Given the description of an element on the screen output the (x, y) to click on. 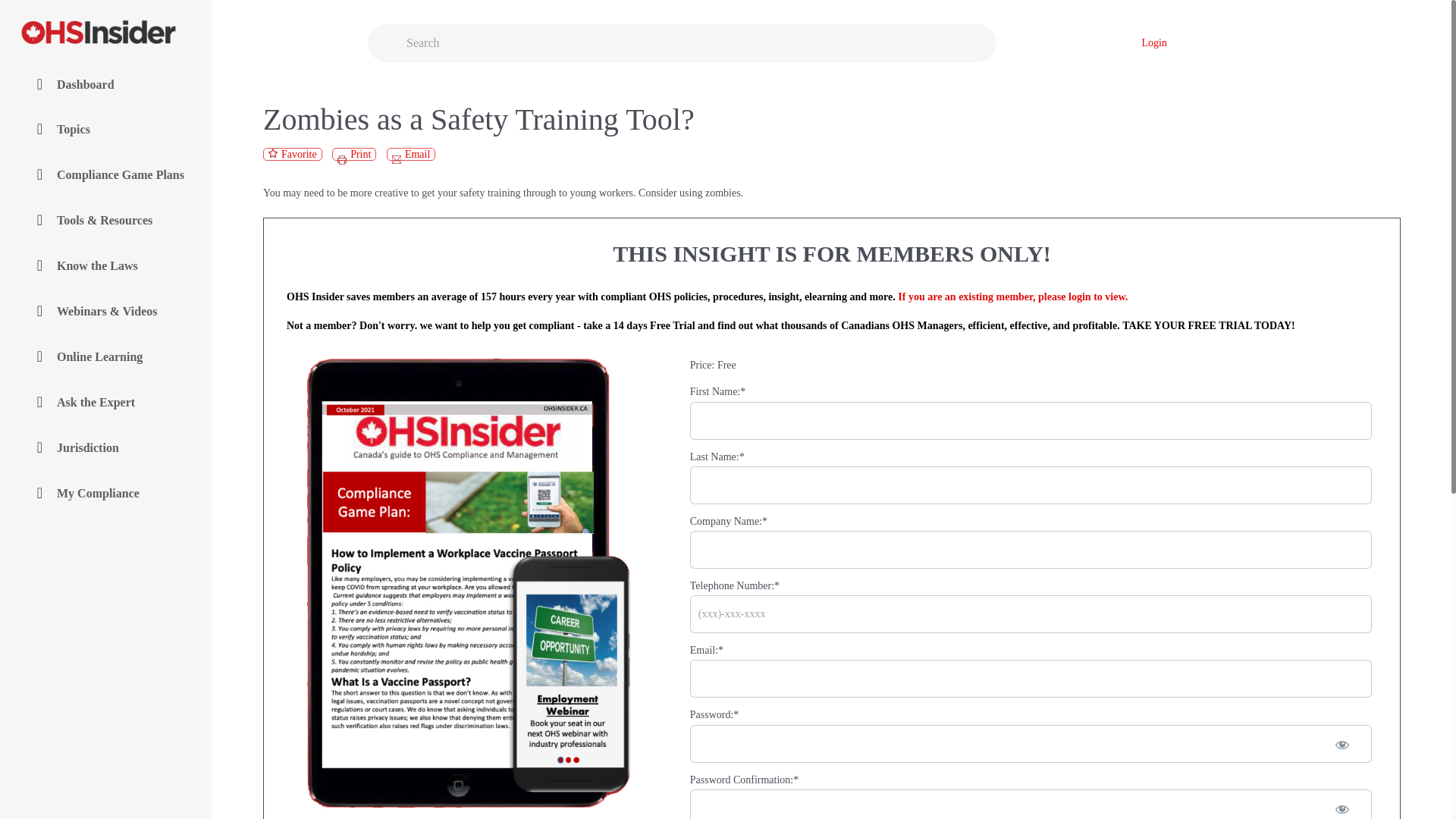
Login (1154, 42)
My Compliance (106, 493)
Compliance Game Plans (106, 175)
Topics (106, 130)
Dashboard (106, 84)
Jurisdiction (106, 448)
Ask the Expert (106, 402)
Share by Email (411, 154)
Online Learning (106, 357)
Know the Laws (106, 266)
